Given the description of an element on the screen output the (x, y) to click on. 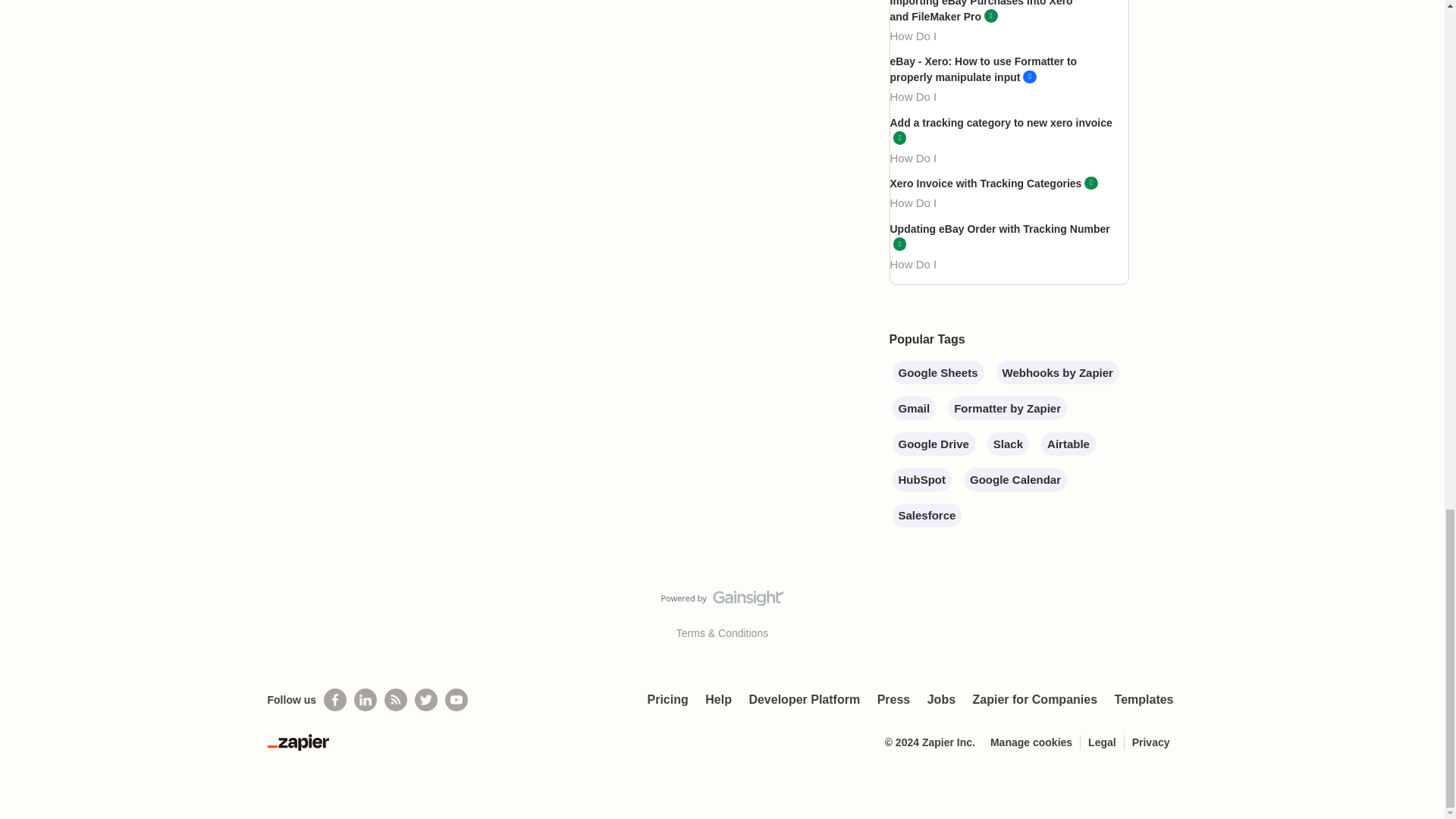
Follow us on Facebook (334, 699)
Follow us on LinkedIn (365, 699)
Subscribe to our blog (395, 699)
See helpful Zapier videos on Youtube (456, 699)
Visit Gainsight.com (722, 601)
